Given the description of an element on the screen output the (x, y) to click on. 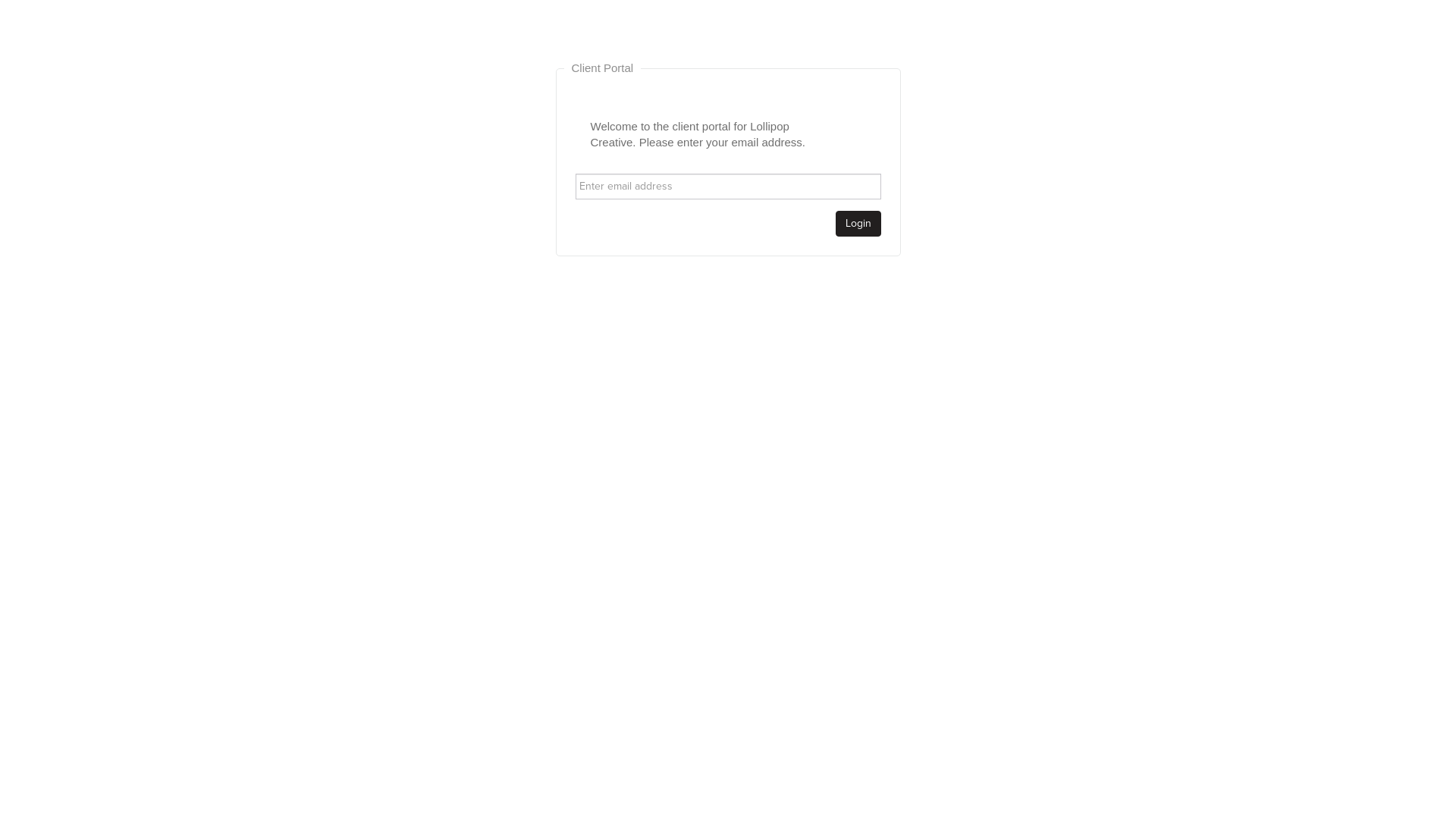
Login Element type: text (858, 223)
